Given the description of an element on the screen output the (x, y) to click on. 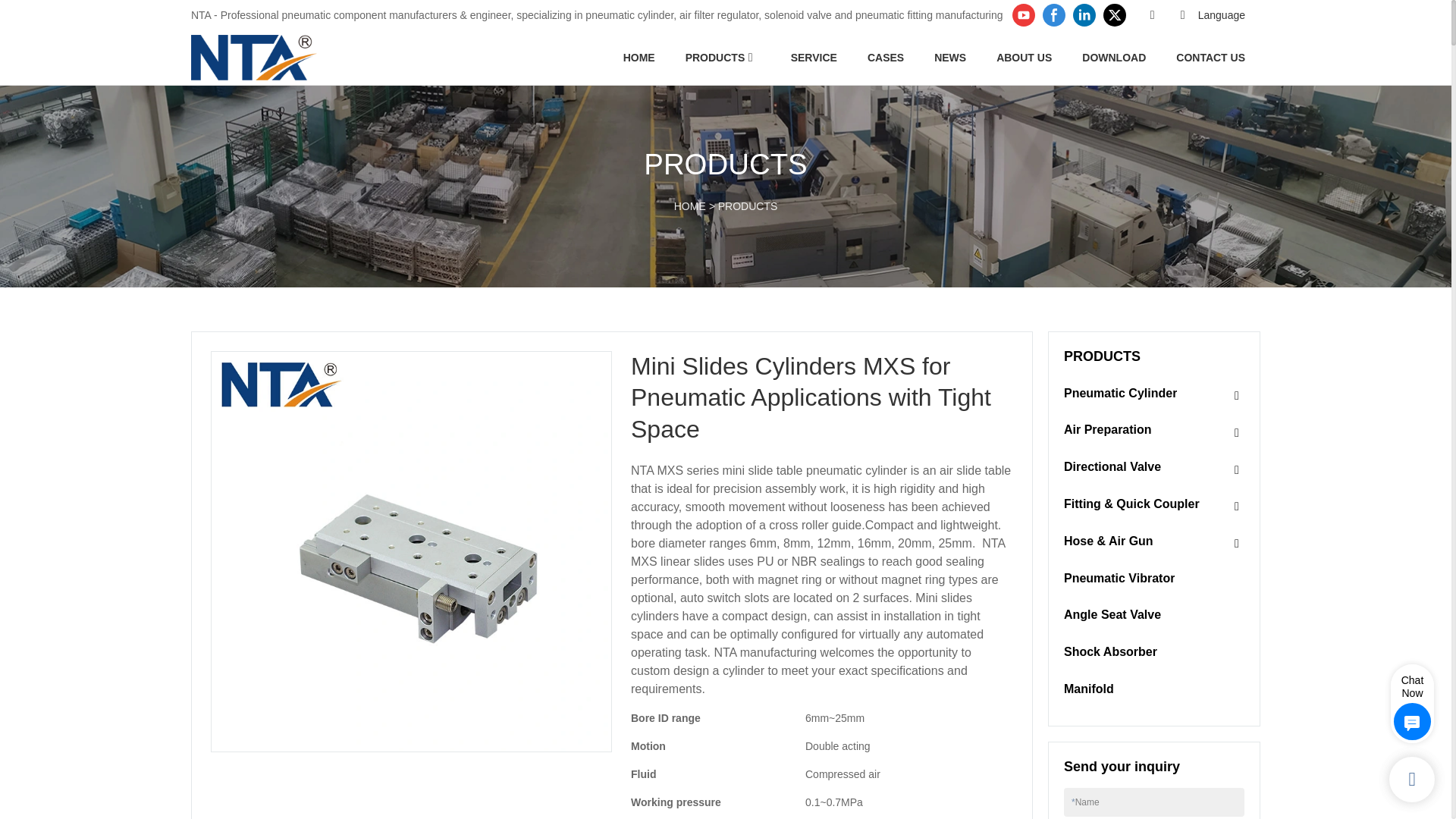
HOME (639, 57)
twitter (1114, 15)
youtube (1024, 15)
linkedin (1083, 15)
facebook (1053, 15)
PRODUCTS (715, 57)
